Given the description of an element on the screen output the (x, y) to click on. 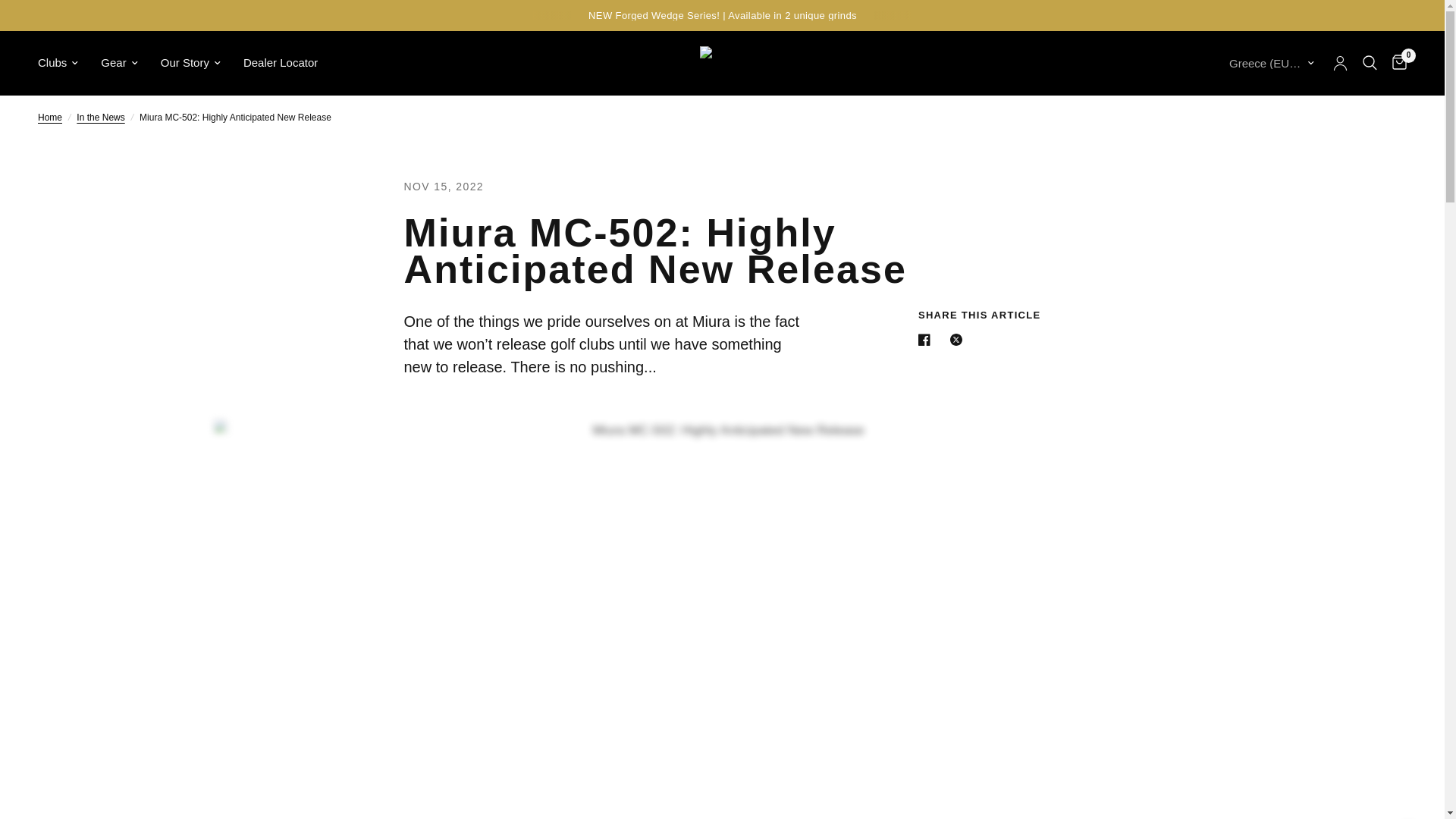
Search (1369, 63)
My Account (1339, 63)
Home (49, 117)
In the News (100, 117)
Clubs (57, 63)
